Given the description of an element on the screen output the (x, y) to click on. 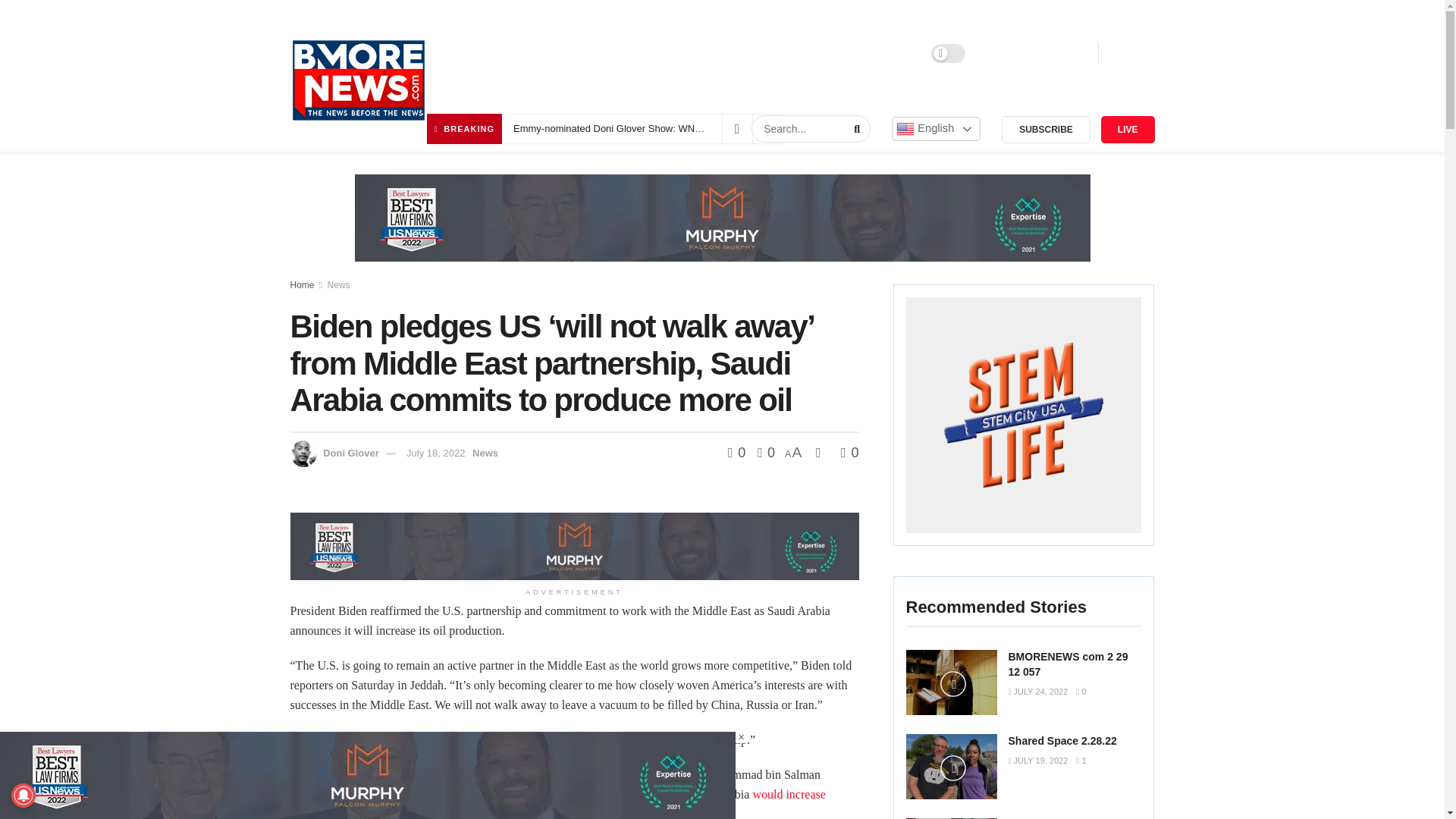
POLITICS (838, 53)
BUSINESS (707, 53)
Login (1005, 53)
VIDEOS (901, 53)
BLACK WALL STREET (604, 53)
LIVE (1127, 129)
English (935, 128)
STOCKS (773, 53)
SUBSCRIBE (1045, 129)
